Given the description of an element on the screen output the (x, y) to click on. 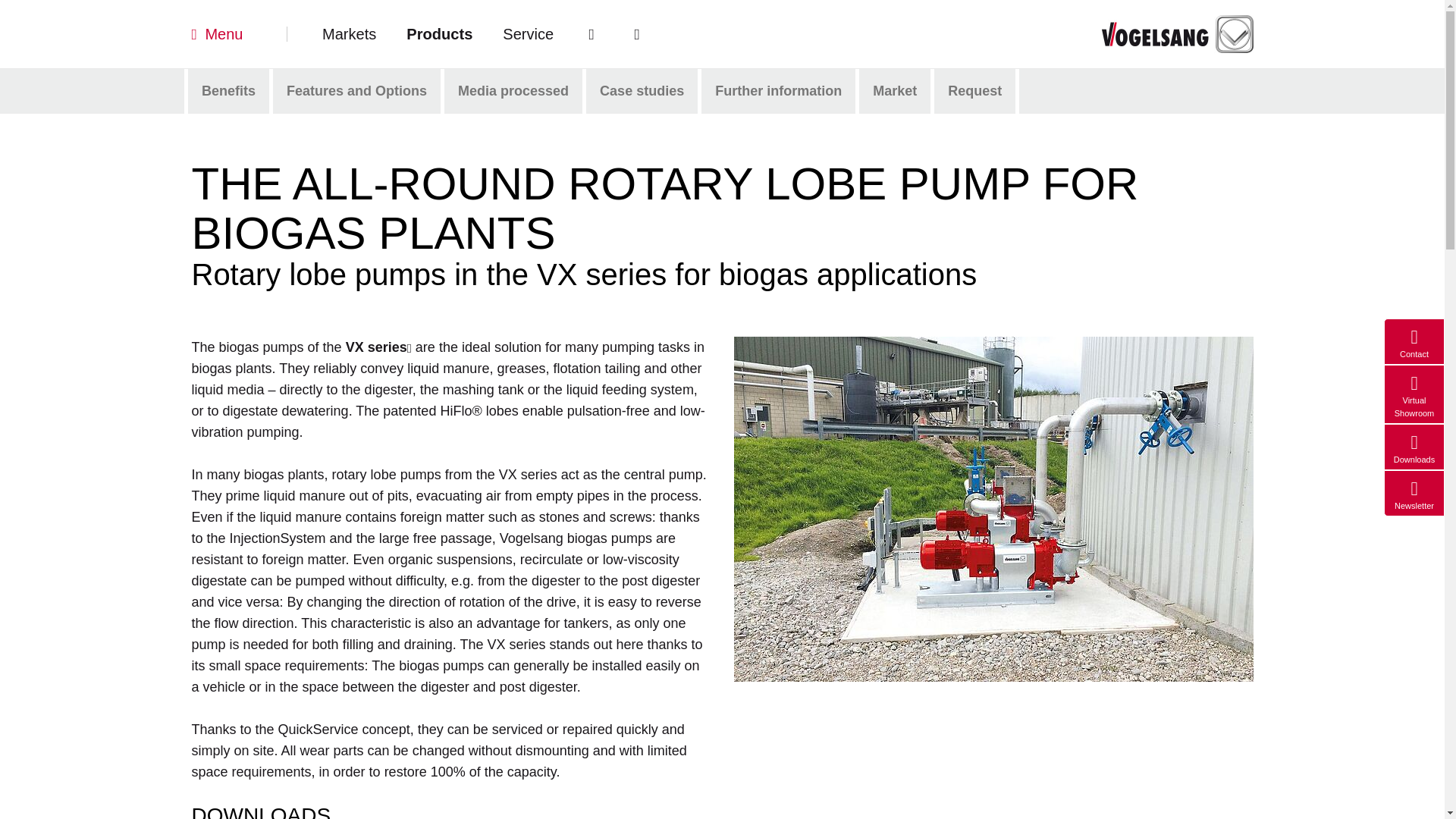
Products (439, 34)
Markets (349, 34)
Market (894, 90)
Request (974, 90)
Case studies (641, 90)
Markets (349, 34)
Further information (778, 90)
Media processed (513, 90)
Features and Options (357, 90)
Benefits (228, 90)
Products (439, 34)
